Given the description of an element on the screen output the (x, y) to click on. 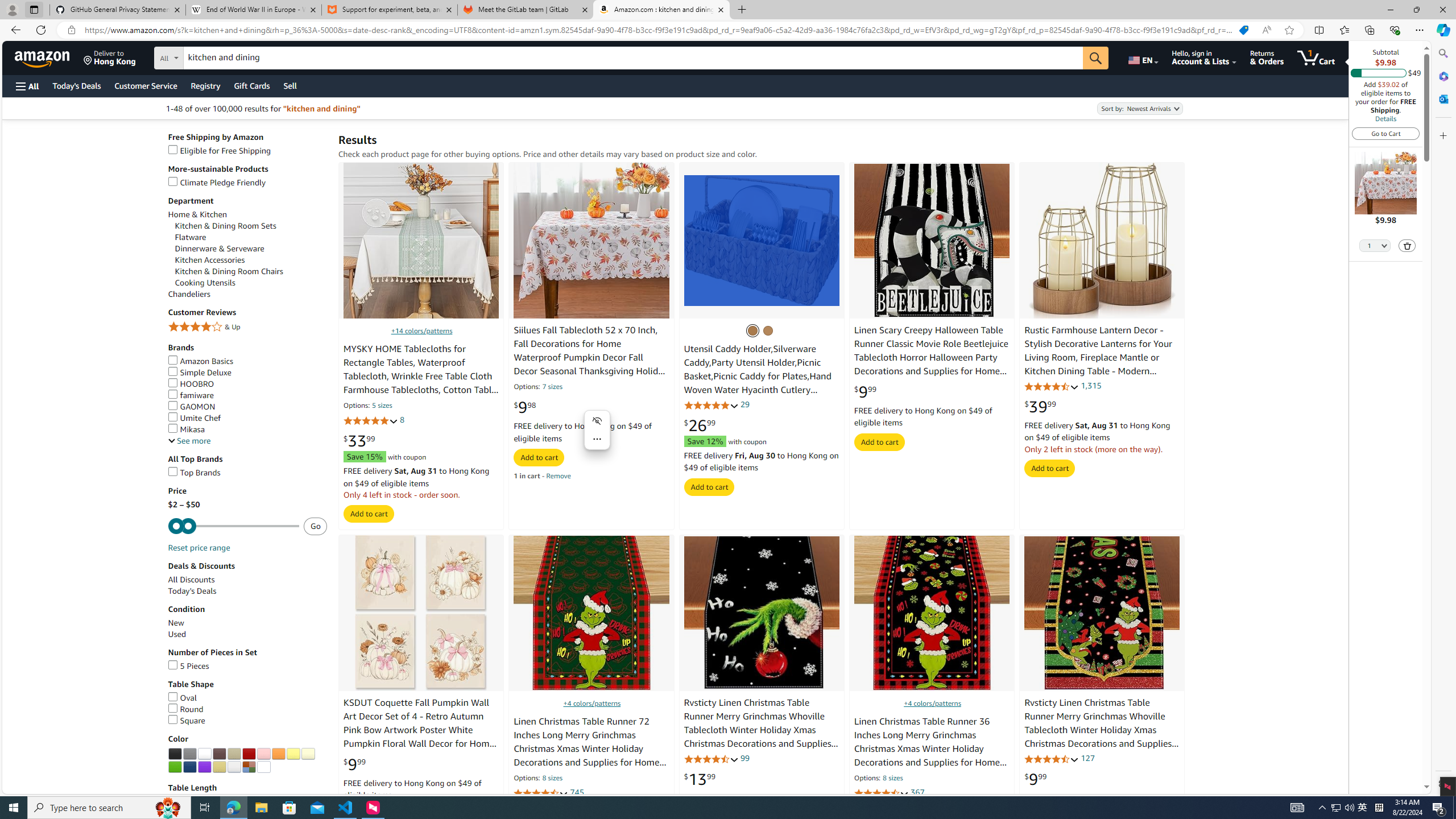
$26.99 (700, 425)
AutomationID: p_n_feature_twenty_browse-bin/3254103011 (248, 753)
Simple Deluxe (247, 372)
4.7 out of 5 stars (880, 793)
Clear (263, 766)
4 Stars & Up (247, 327)
Minimum (233, 525)
4.6 out of 5 stars (1051, 758)
Choose a language for shopping. (1142, 57)
Kitchen Accessories (250, 260)
Ivory (307, 753)
Returns & Orders (1266, 57)
127 (1087, 757)
